Given the description of an element on the screen output the (x, y) to click on. 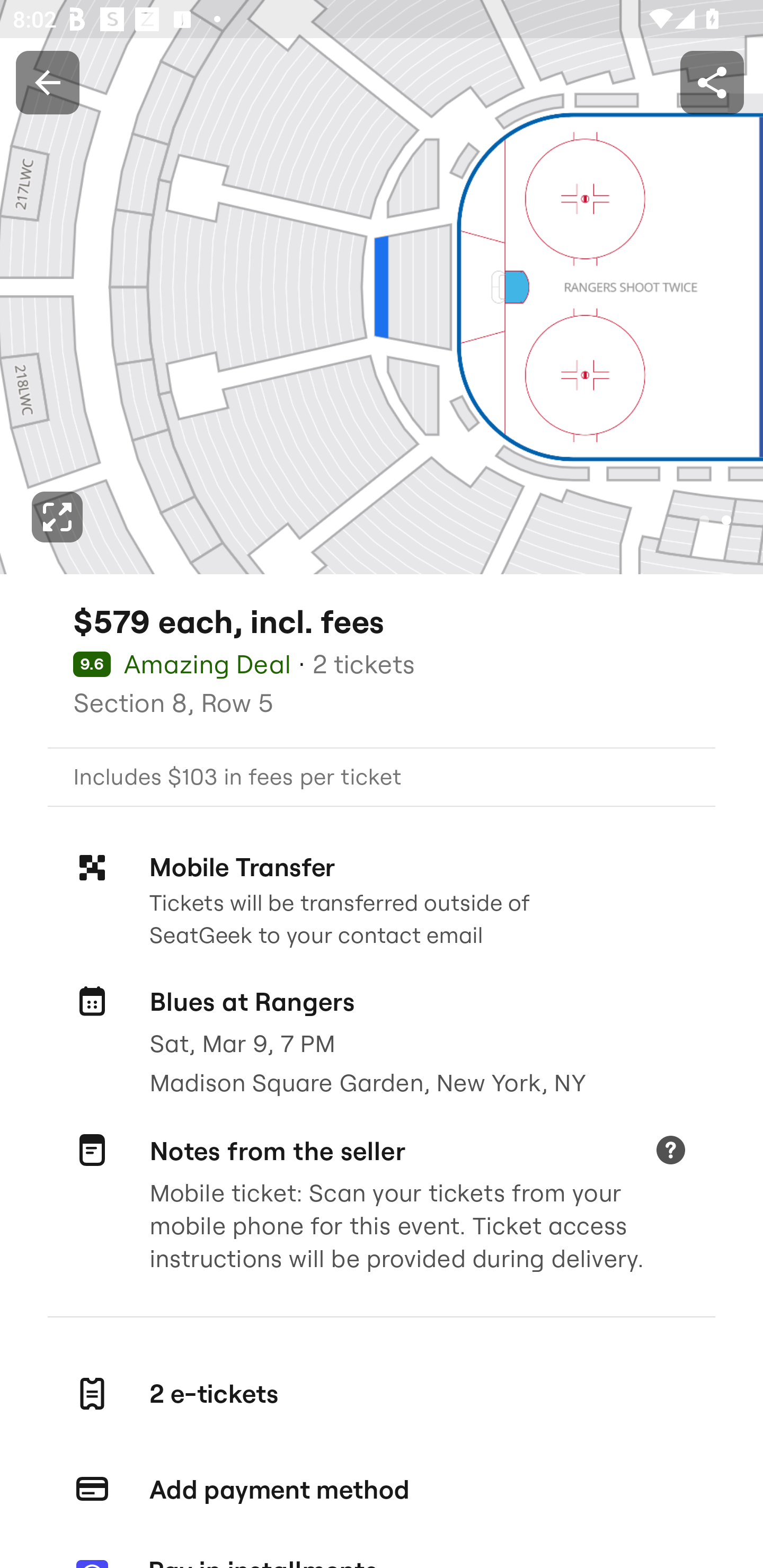
Back (47, 81)
Share (711, 81)
Expand image to fullscreen (57, 517)
Learn more (670, 1151)
2 e-tickets (381, 1393)
Add payment method (381, 1490)
